Given the description of an element on the screen output the (x, y) to click on. 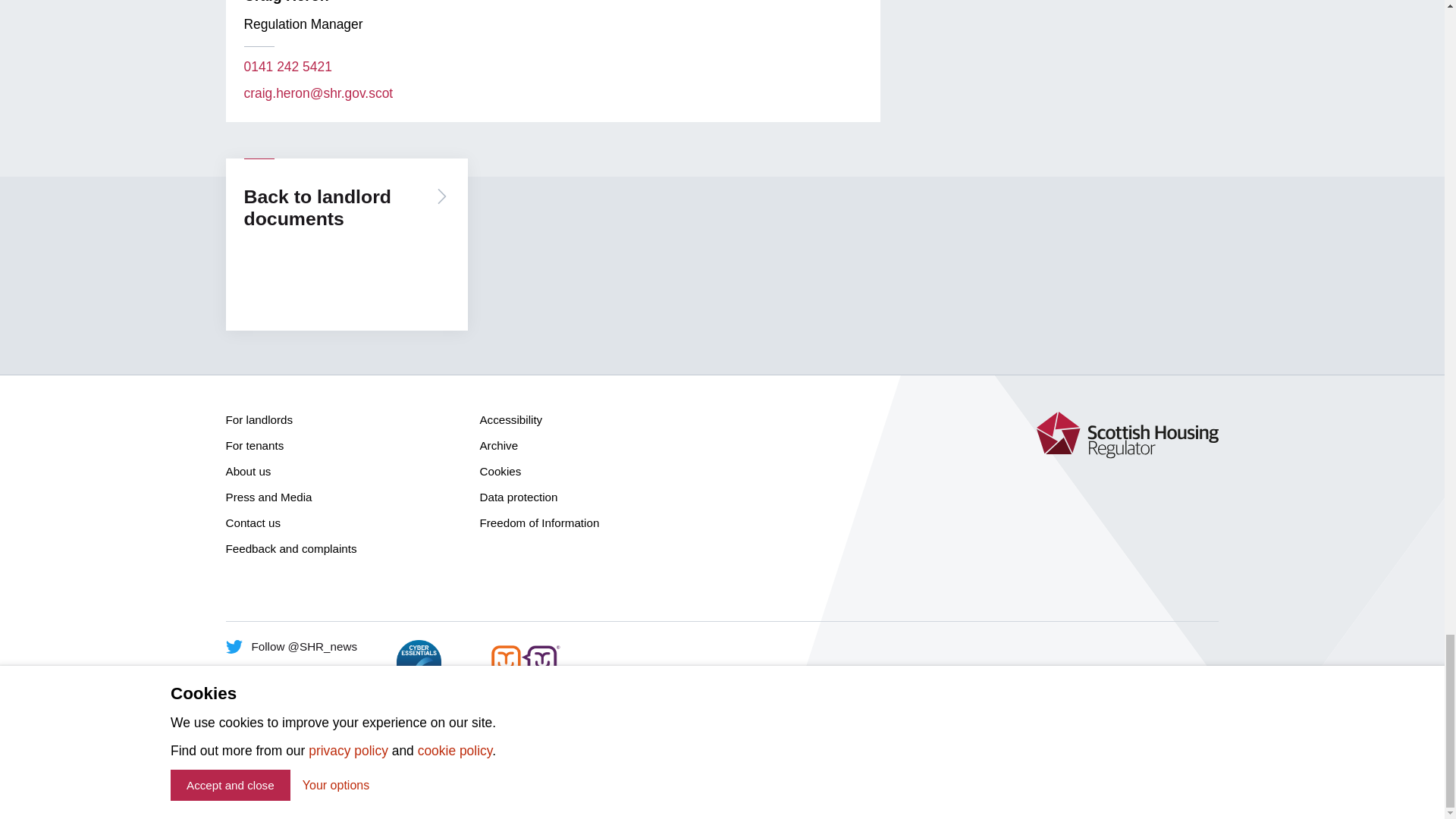
Open Government Licence (557, 755)
